Given the description of an element on the screen output the (x, y) to click on. 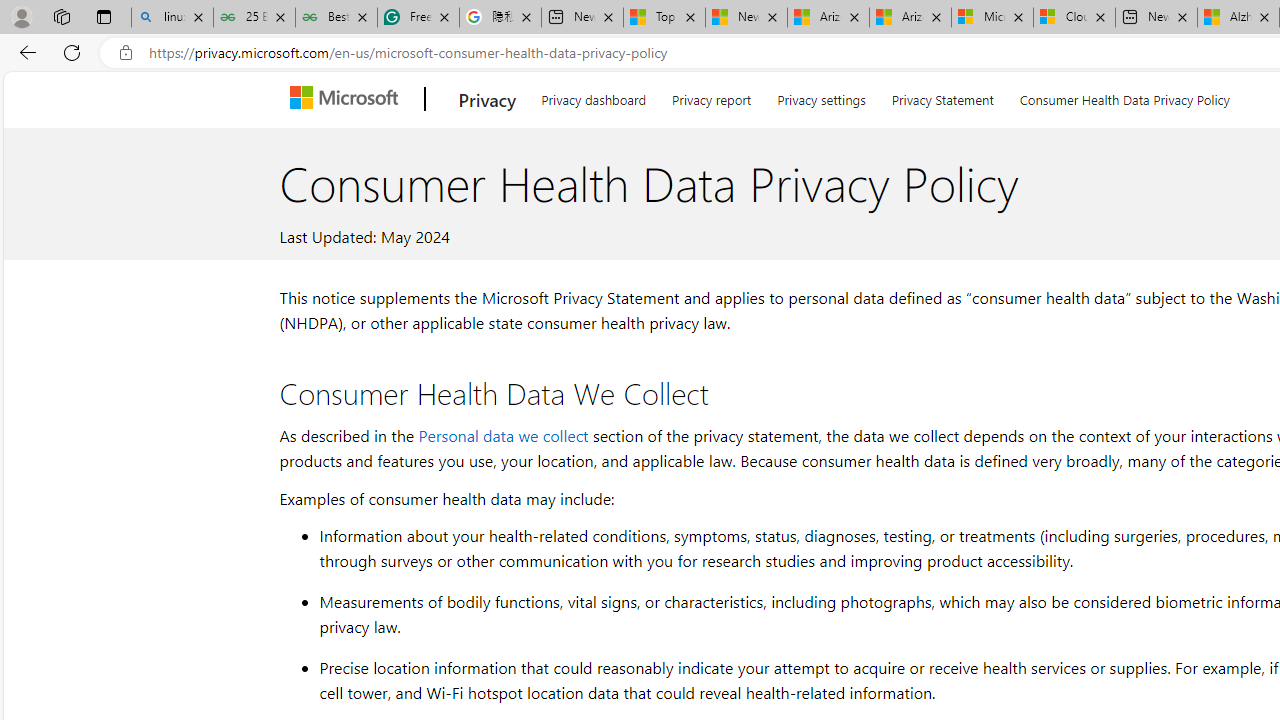
Microsoft (348, 99)
Best SSL Certificates Provider in India - GeeksforGeeks (336, 17)
Privacy settings (821, 96)
25 Basic Linux Commands For Beginners - GeeksforGeeks (254, 17)
Privacy settings (821, 96)
Consumer Health Data Privacy Policy (1124, 96)
Privacy dashboard (593, 96)
Cloud Computing Services | Microsoft Azure (1074, 17)
Top Stories - MSN (664, 17)
Free AI Writing Assistance for Students | Grammarly (418, 17)
